Given the description of an element on the screen output the (x, y) to click on. 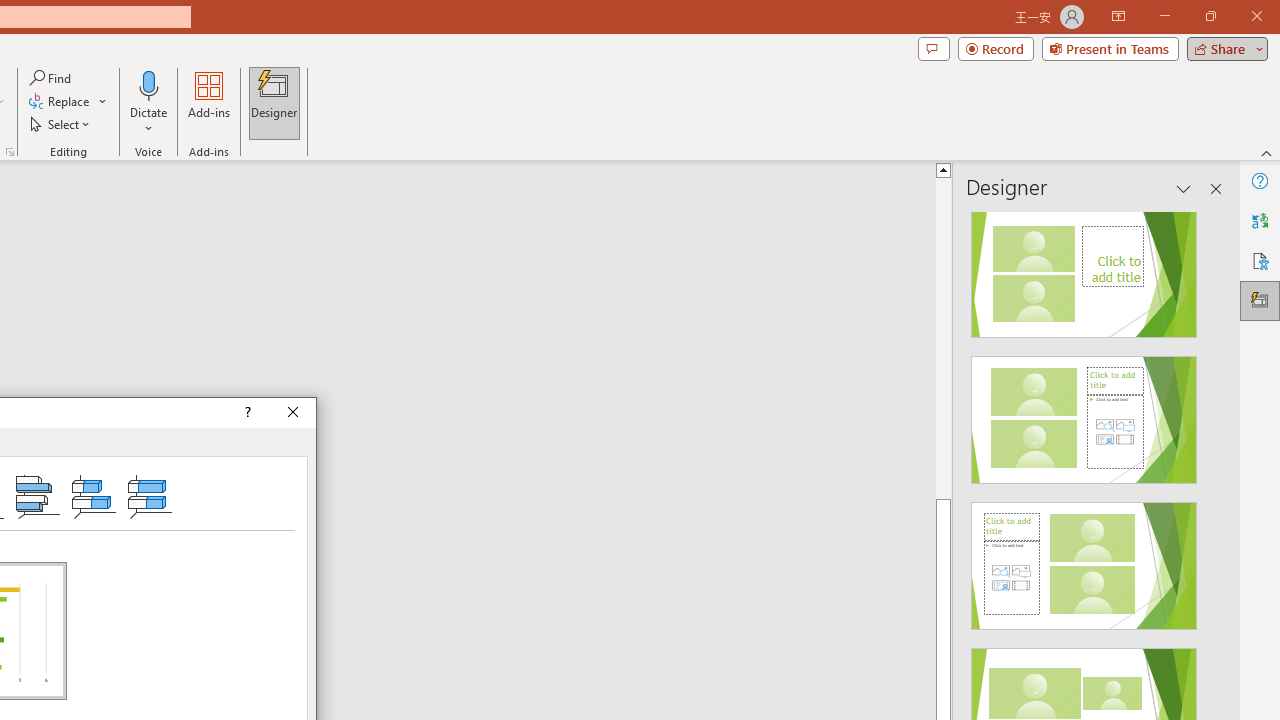
Page up (1011, 337)
Select (61, 124)
3-D 100% Stacked Bar (149, 496)
Find... (51, 78)
3-D Stacked Bar (93, 496)
3-D Clustered Bar (38, 496)
Context help (246, 412)
